Given the description of an element on the screen output the (x, y) to click on. 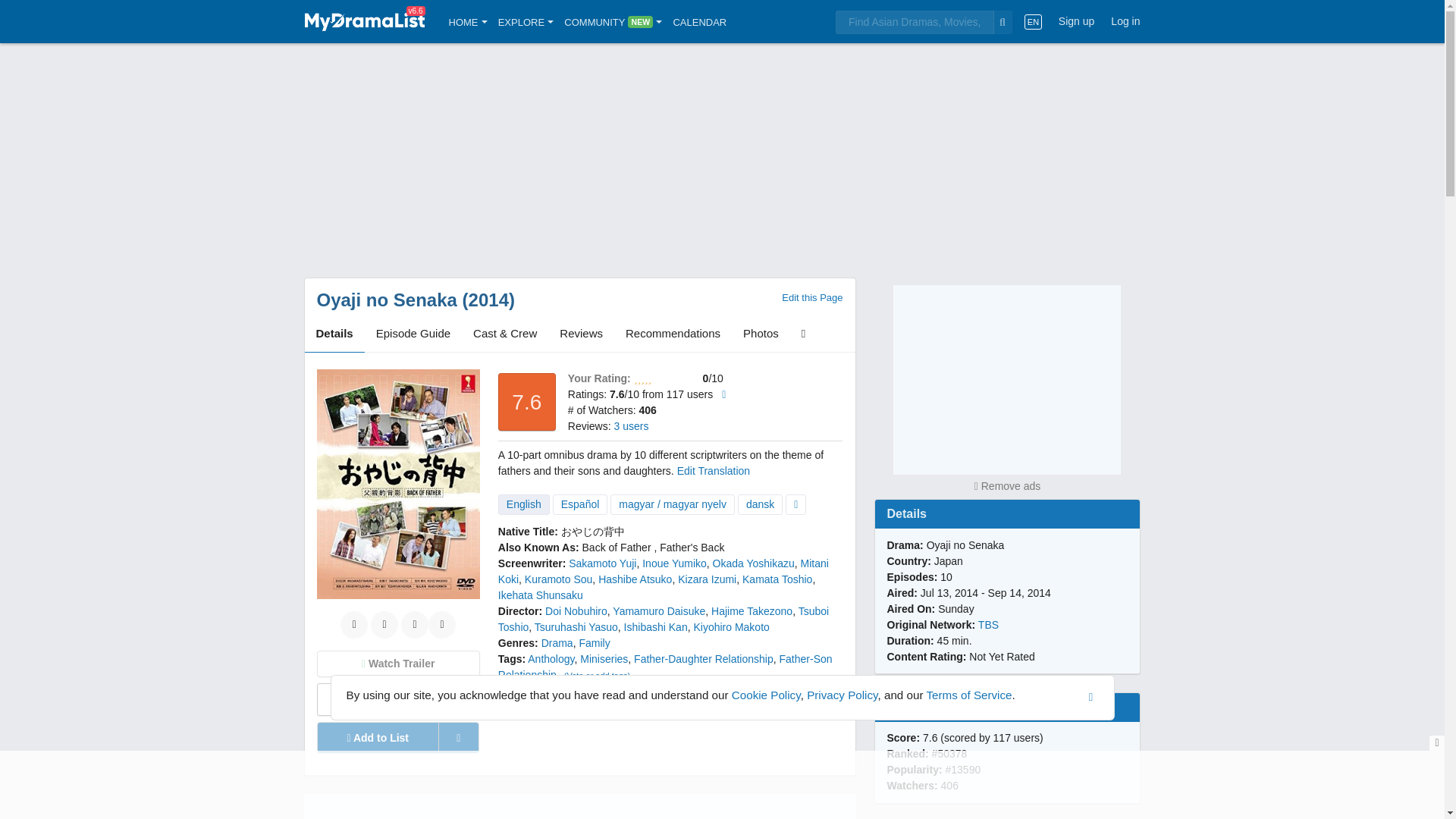
Father's Back (691, 547)
Back of Father (616, 547)
HOME (467, 21)
Oyaji no Senaka (387, 299)
v6.6 (364, 21)
